Given the description of an element on the screen output the (x, y) to click on. 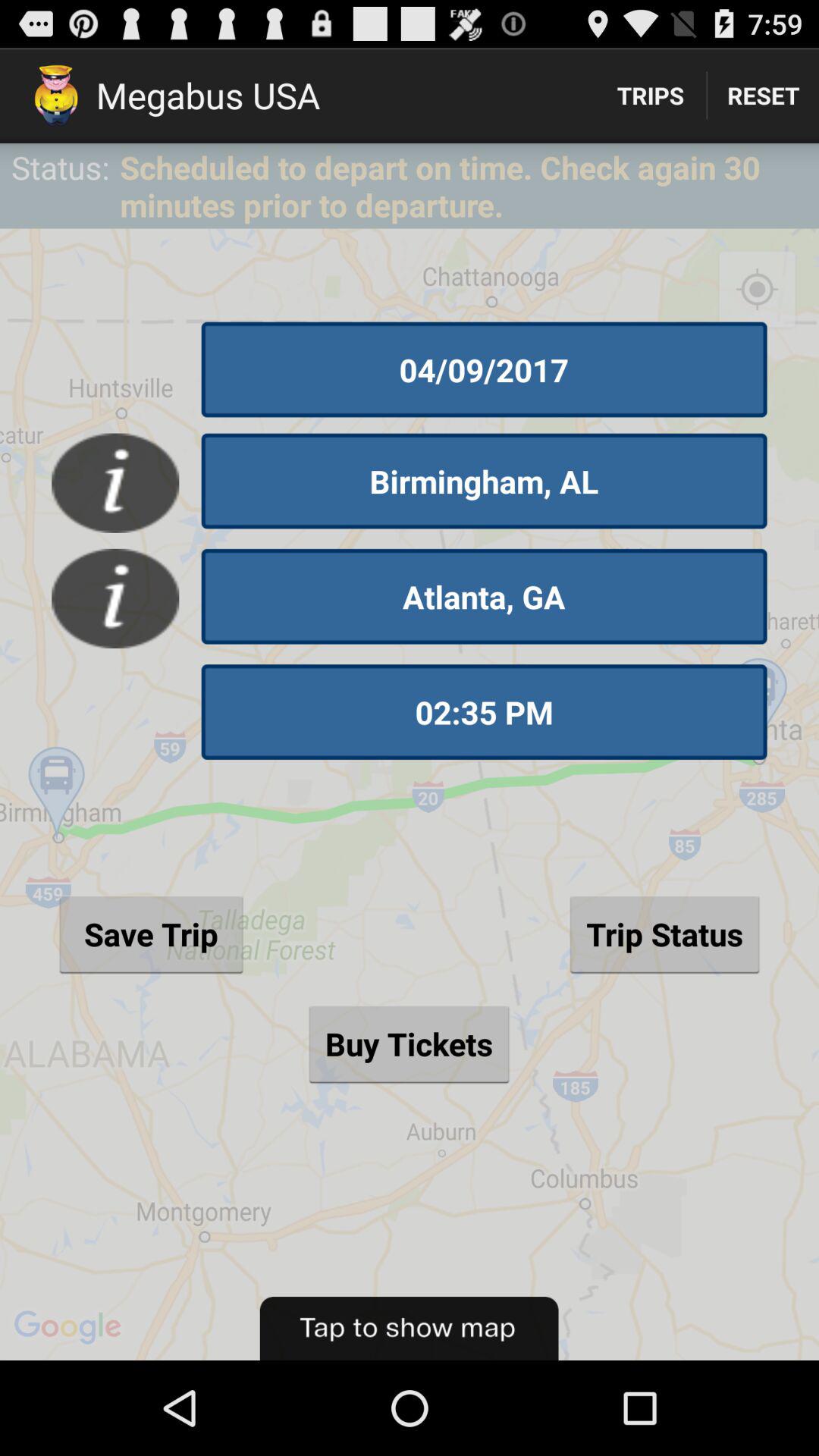
press the item above save trip button (484, 711)
